Given the description of an element on the screen output the (x, y) to click on. 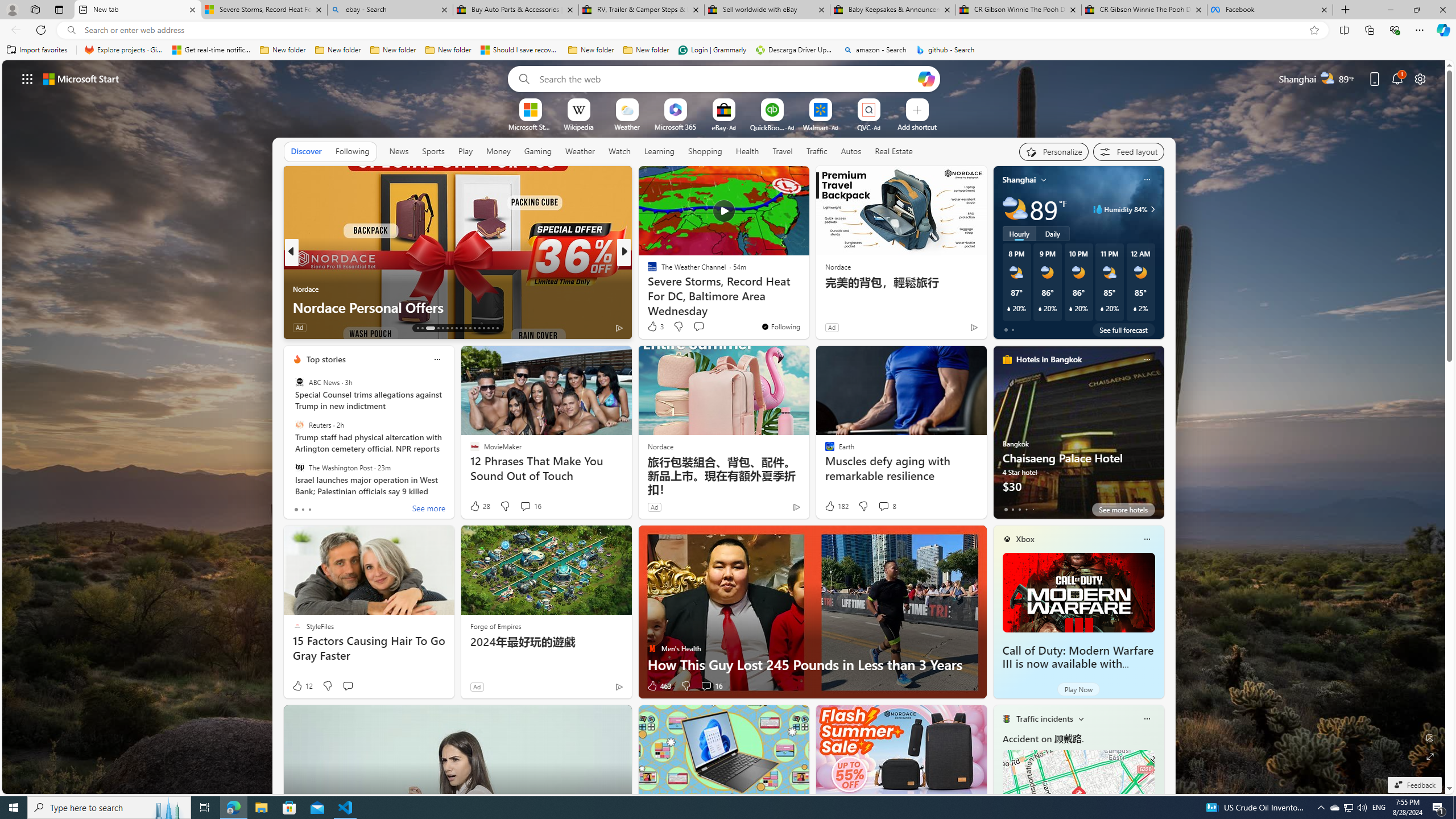
Athletes That Died Far Too Young (807, 307)
New folder (646, 49)
View comments 96 Comment (707, 327)
Spotlight Feature (647, 270)
View comments 1 Comment (705, 327)
12 Like (301, 685)
Should I save recovered Word documents? - Microsoft Support (519, 49)
Top stories (325, 359)
